Given the description of an element on the screen output the (x, y) to click on. 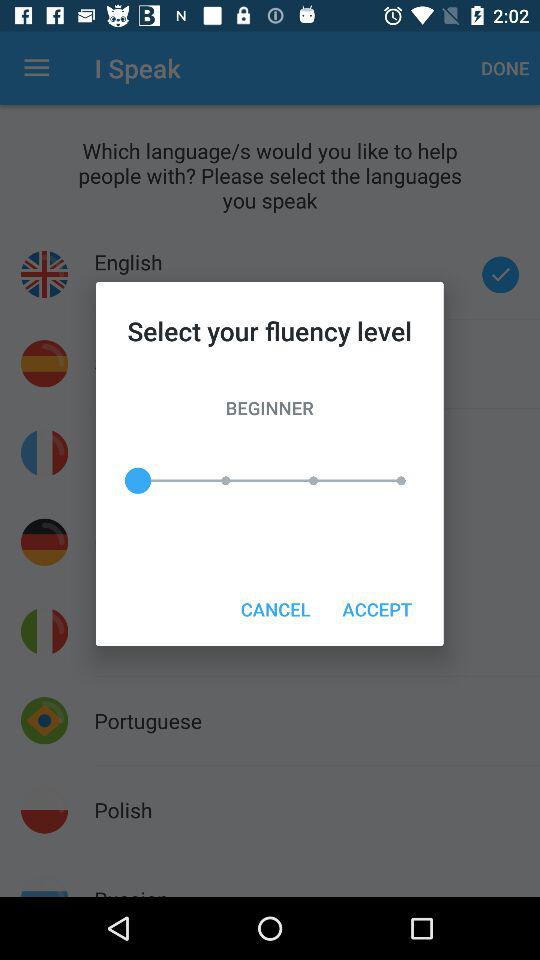
open item on the right (376, 608)
